Given the description of an element on the screen output the (x, y) to click on. 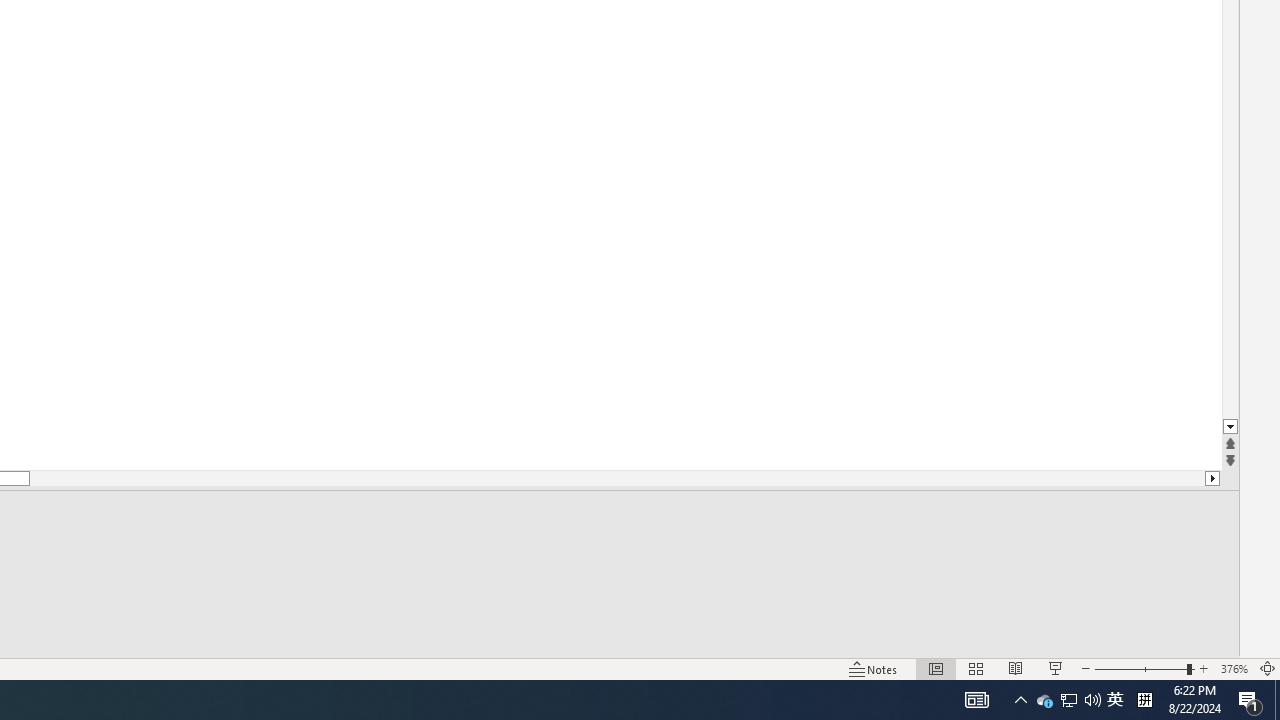
Zoom 376% (1234, 668)
